Given the description of an element on the screen output the (x, y) to click on. 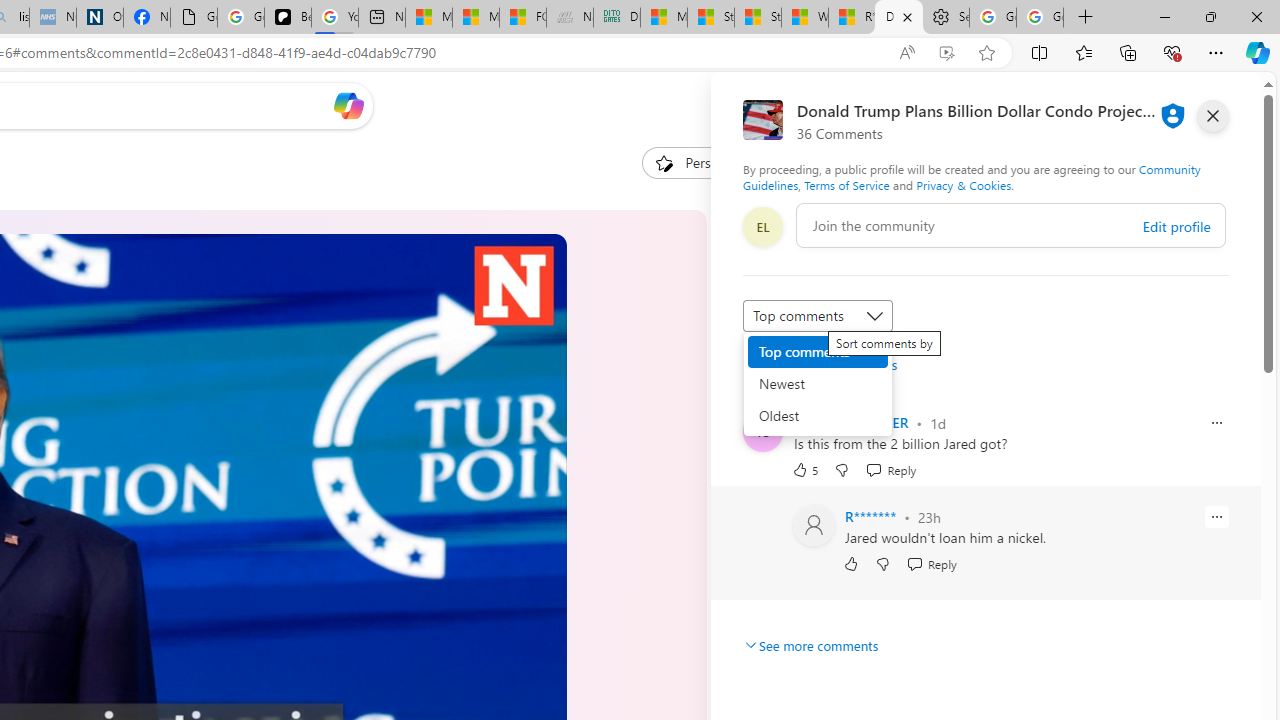
NCL Adult Asthma Inhaler Choice Guideline - Sleeping (52, 17)
Edit profile (1175, 226)
Ad (758, 439)
Stocks - MSN (757, 17)
Dislike (882, 564)
DITOGAMES AG Imprint (616, 17)
5 Like (804, 469)
How To Borrow From Your Home Without Touching Your Mortgage (879, 288)
Profile Picture (813, 525)
Sort comments by (817, 315)
R******* | Trusted Community Engagement and Contributions (852, 17)
